Given the description of an element on the screen output the (x, y) to click on. 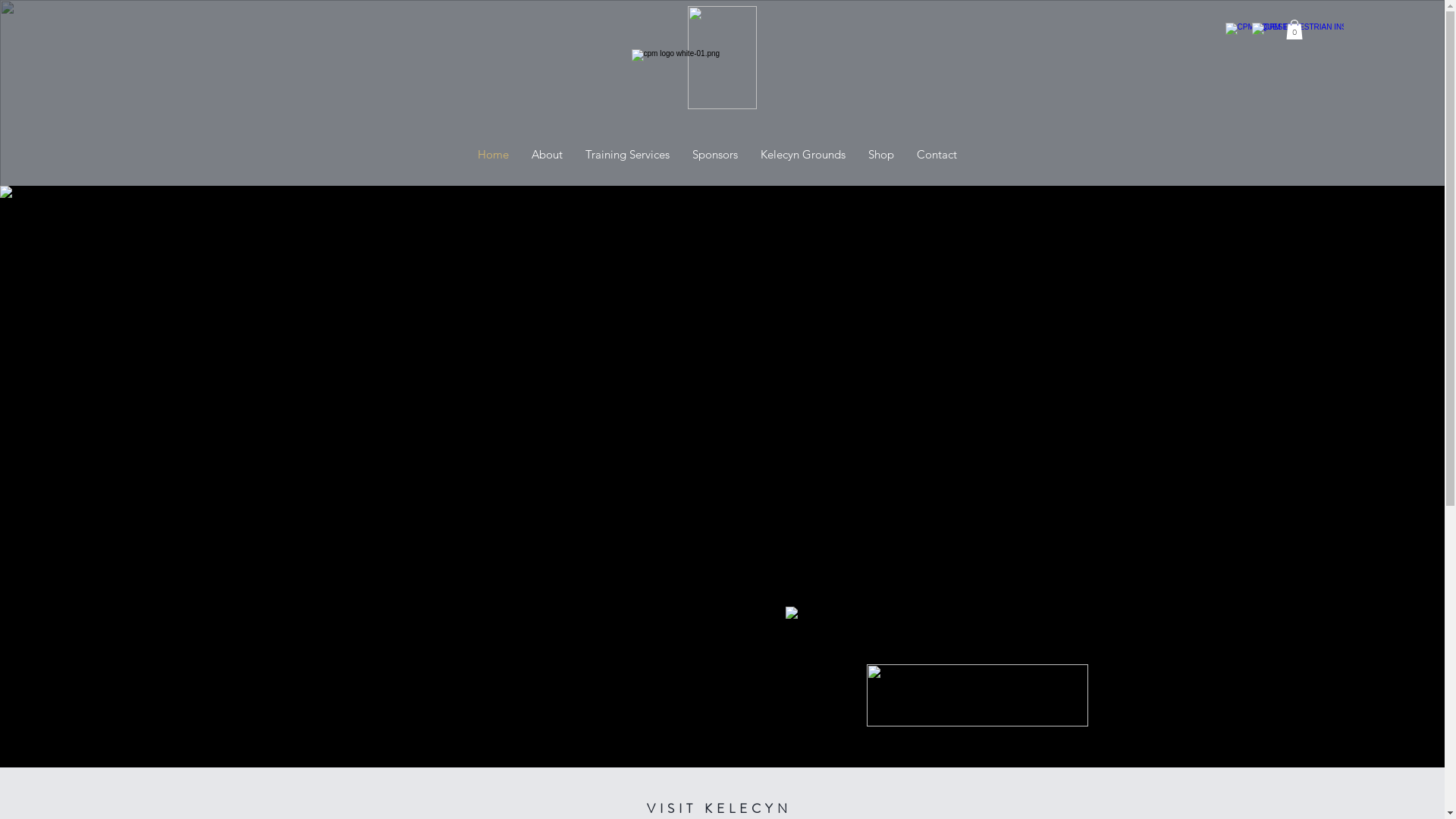
0 Element type: text (1294, 29)
Sponsors Element type: text (714, 154)
About Element type: text (547, 154)
Home Element type: text (492, 154)
Contact Element type: text (936, 154)
Charlotte Price CPM-04.png Element type: hover (976, 695)
CPM EQUESTRIAN.png Element type: hover (721, 57)
Charlotte Price CPM-01.png Element type: hover (909, 641)
Training Services Element type: text (626, 154)
Kelecyn Grounds Element type: text (802, 154)
VISIT KELECYN Element type: text (718, 808)
Shop Element type: text (880, 154)
